Given the description of an element on the screen output the (x, y) to click on. 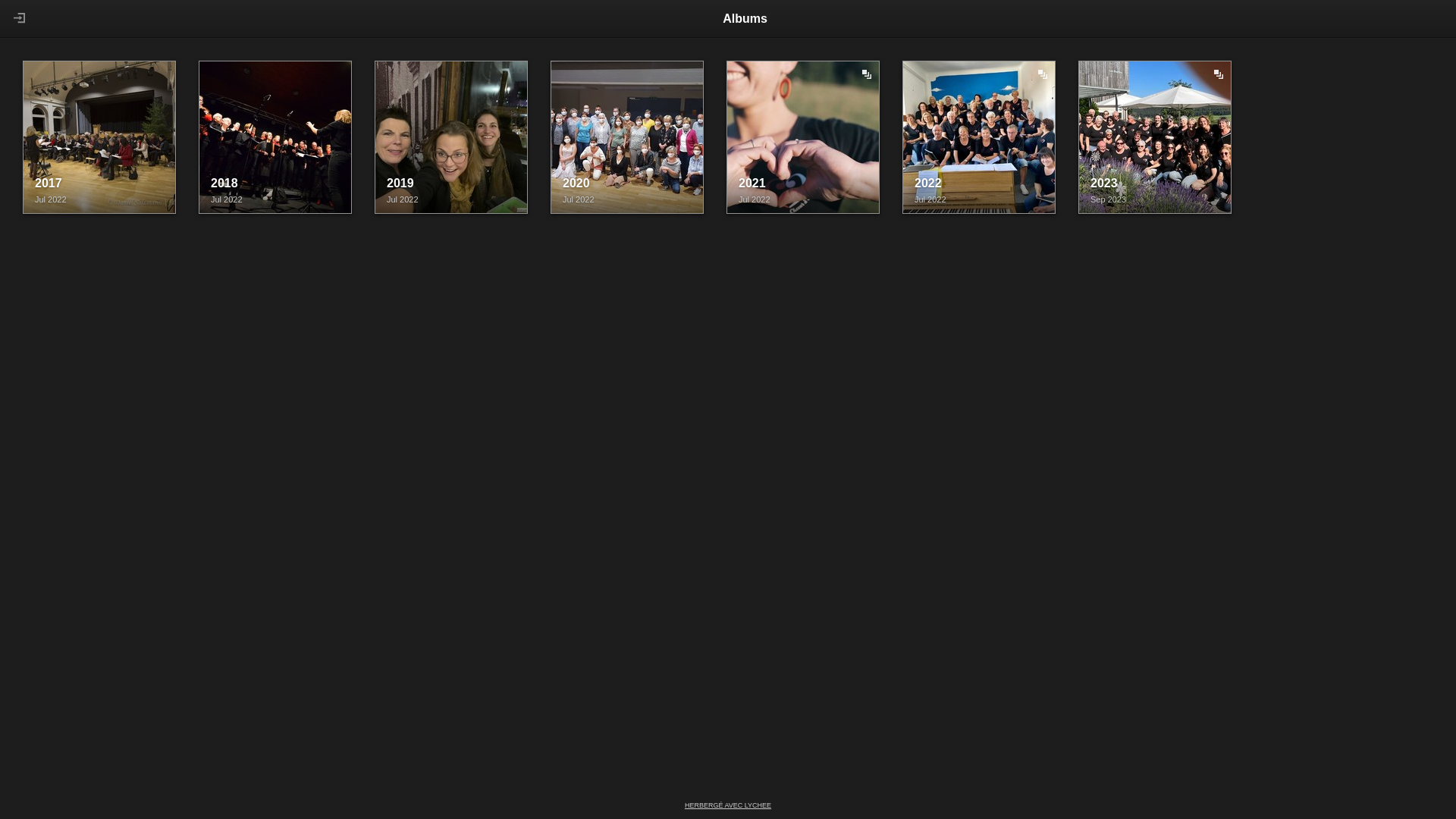
Connexion Element type: hover (17, 18)
Sep 2023 Element type: text (1160, 199)
Jul 2022 Element type: text (280, 199)
Jul 2022 Element type: text (984, 199)
Jul 2022 Element type: text (632, 199)
Jul 2022 Element type: text (104, 199)
Jul 2022 Element type: text (808, 199)
Jul 2022 Element type: text (456, 199)
